Given the description of an element on the screen output the (x, y) to click on. 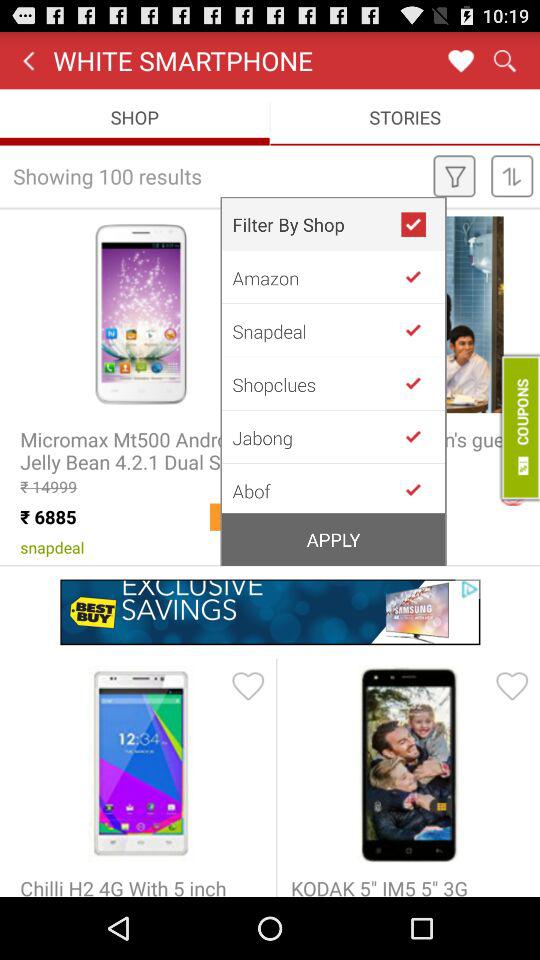
press item below snapdeal app (316, 383)
